Given the description of an element on the screen output the (x, y) to click on. 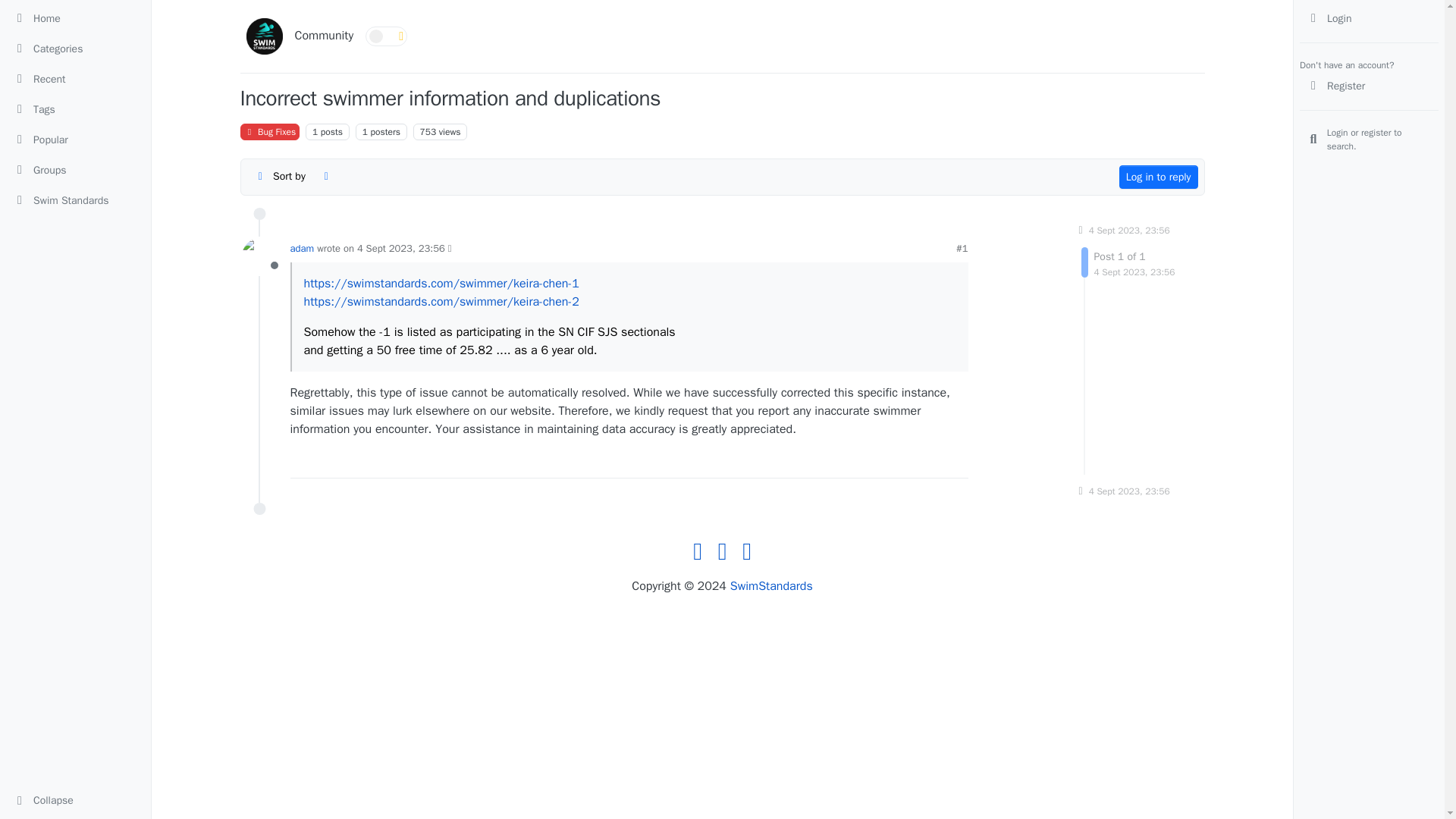
Log in to reply (1158, 177)
1 (365, 132)
Categories (74, 48)
Popular (74, 139)
Tags (74, 109)
Bug Fixes (269, 131)
Collapse (74, 800)
Sort by (280, 176)
4 Sept 2023, 23:56 (1129, 230)
Groups (74, 169)
adam (301, 247)
2023-09-04T15:56:24.679Z (1133, 272)
Home (74, 17)
Recent (74, 78)
